Given the description of an element on the screen output the (x, y) to click on. 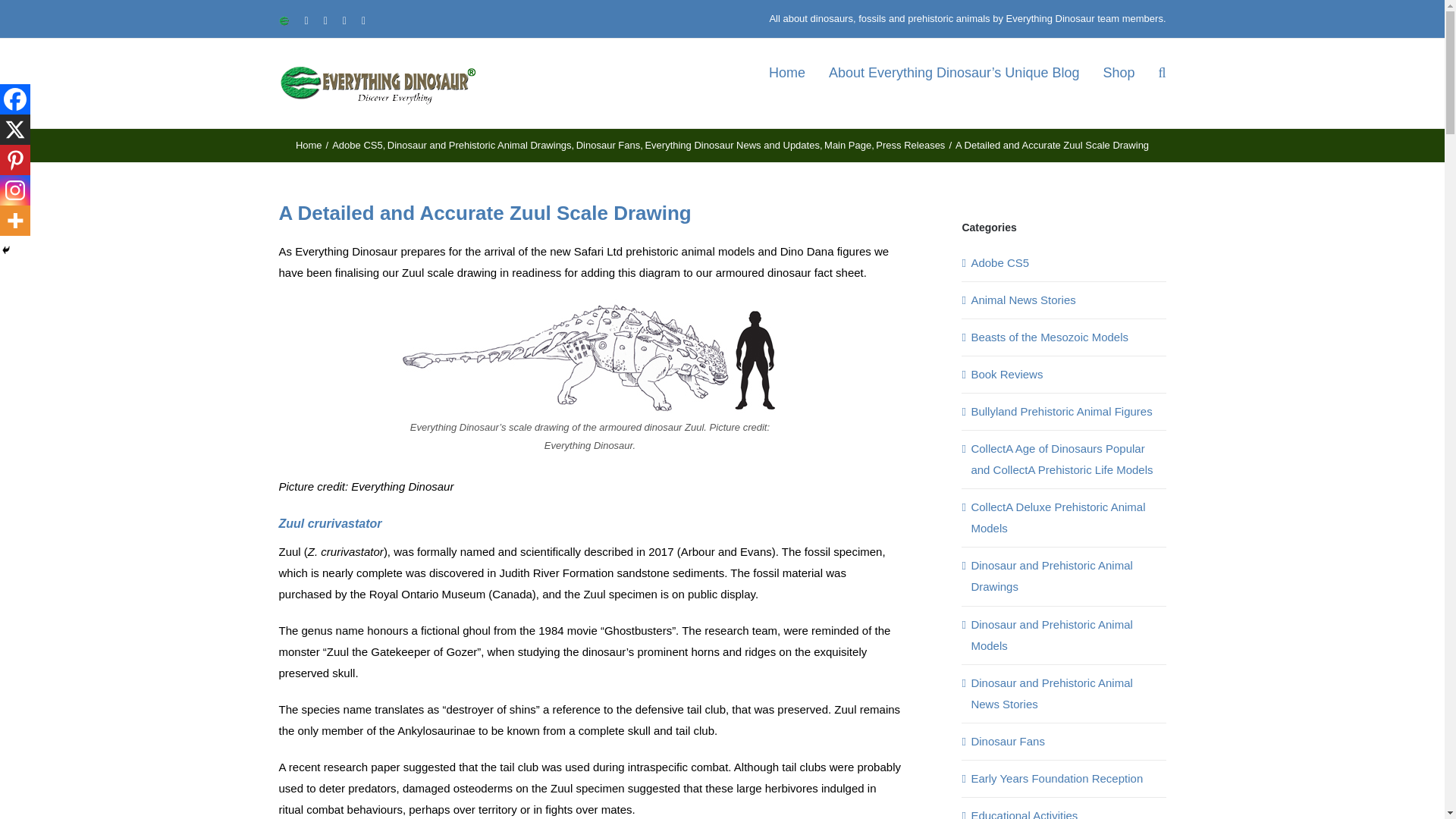
Everything Dinosaur News and Updates (732, 144)
Dinosaur Fans (608, 144)
Home (308, 144)
More (15, 220)
Press Releases (910, 144)
Dinosaur and Prehistoric Animal Drawings (479, 144)
Instagram (15, 190)
Pinterest (15, 159)
Adobe CS5 (356, 144)
X (15, 129)
Main Page (847, 144)
Website (284, 20)
Facebook (15, 99)
Hide (5, 250)
